Given the description of an element on the screen output the (x, y) to click on. 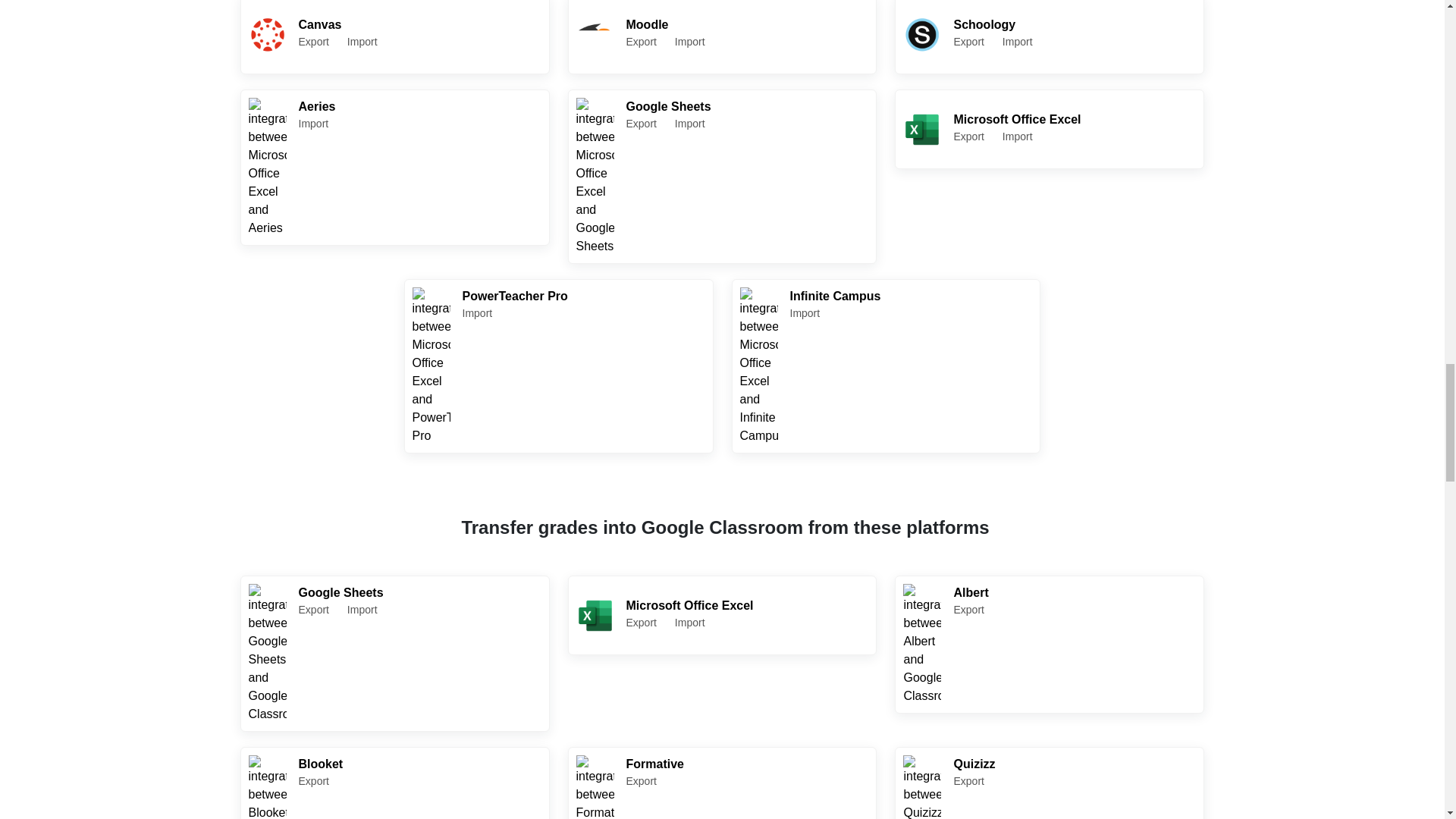
integration between Microsoft Office Excel and Schoology (921, 34)
integration between Microsoft Office Excel and Moodle (395, 167)
